Given the description of an element on the screen output the (x, y) to click on. 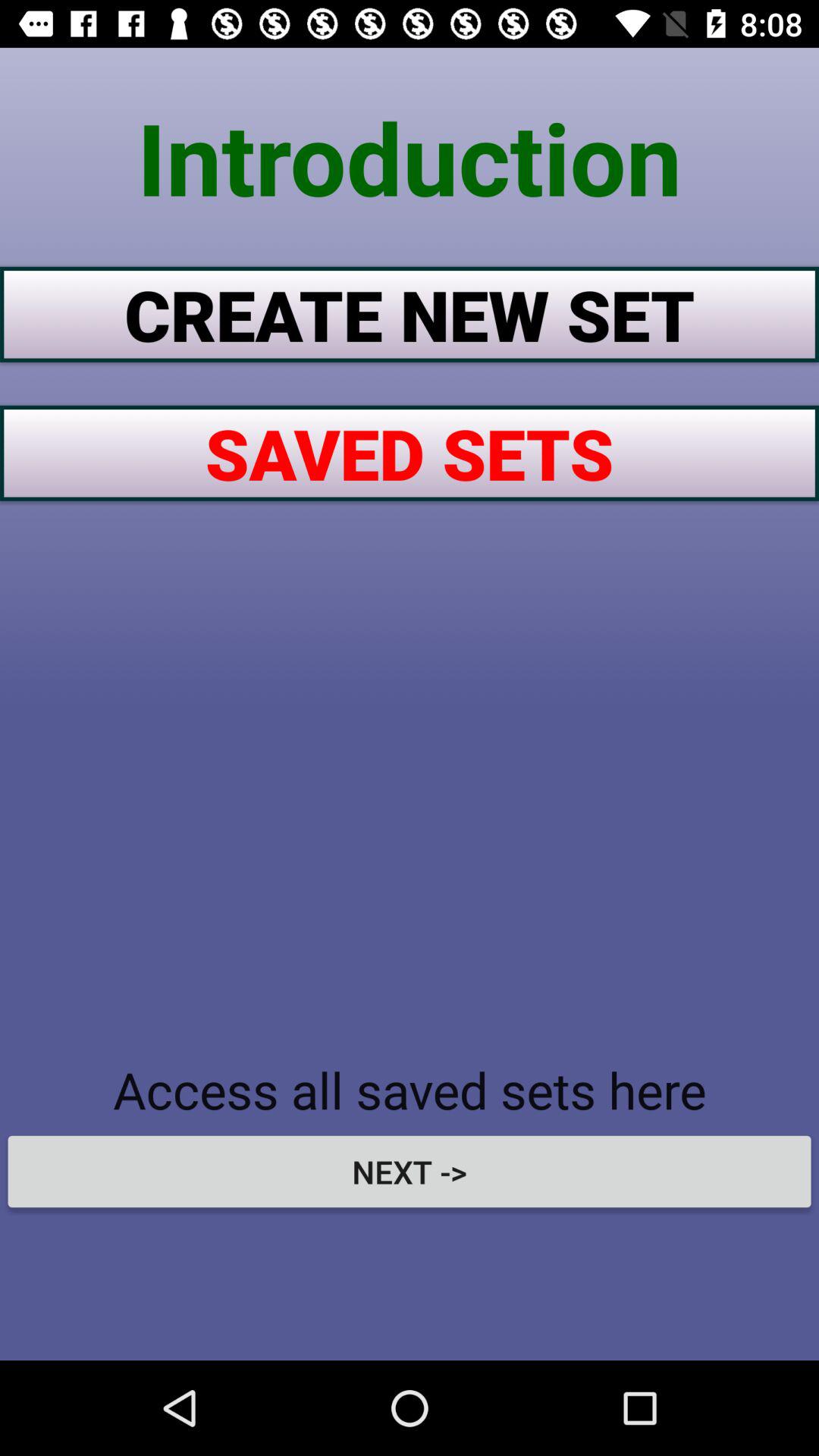
open the next -> icon (409, 1171)
